Given the description of an element on the screen output the (x, y) to click on. 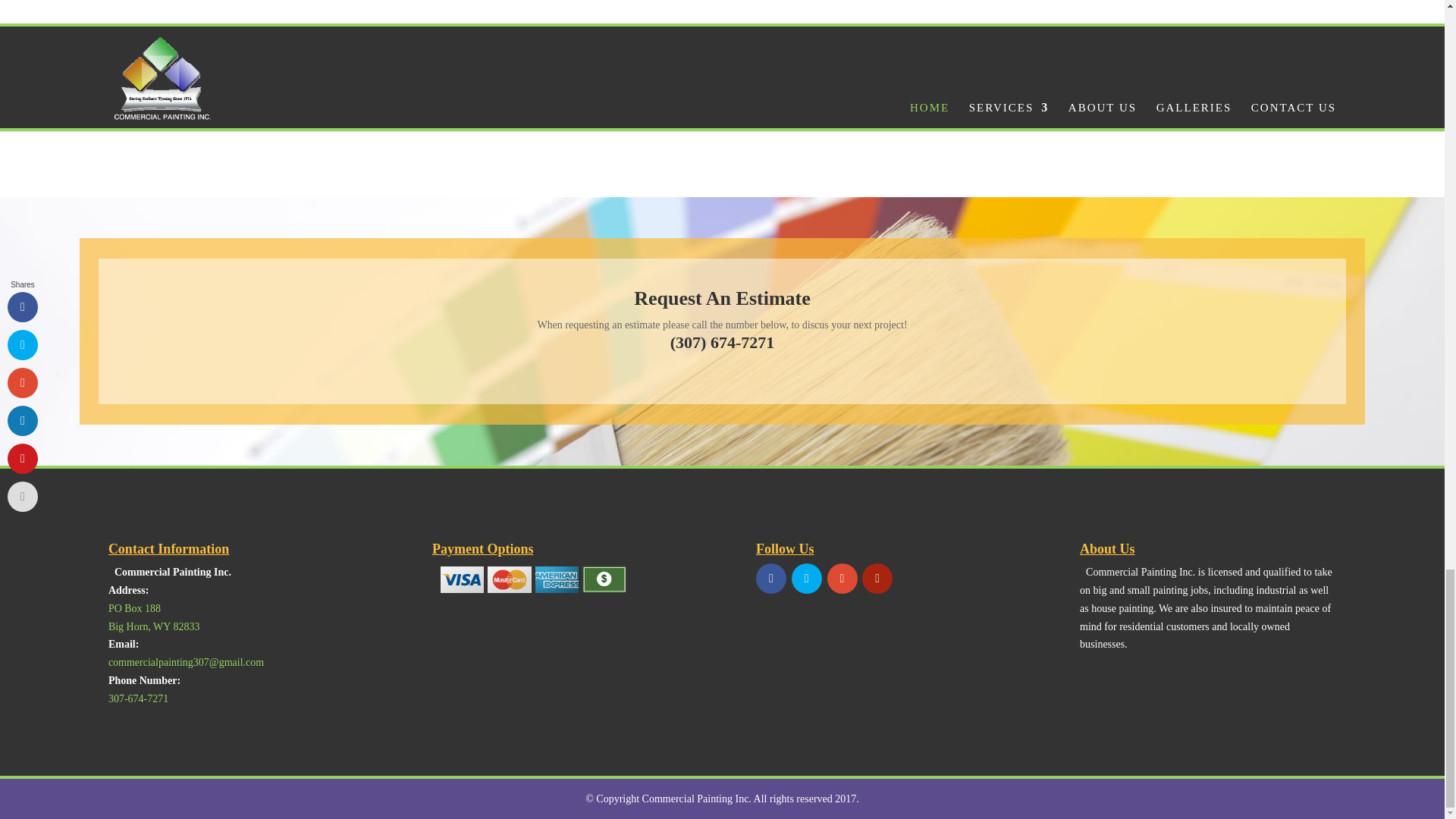
Advertisement (722, 64)
